Given the description of an element on the screen output the (x, y) to click on. 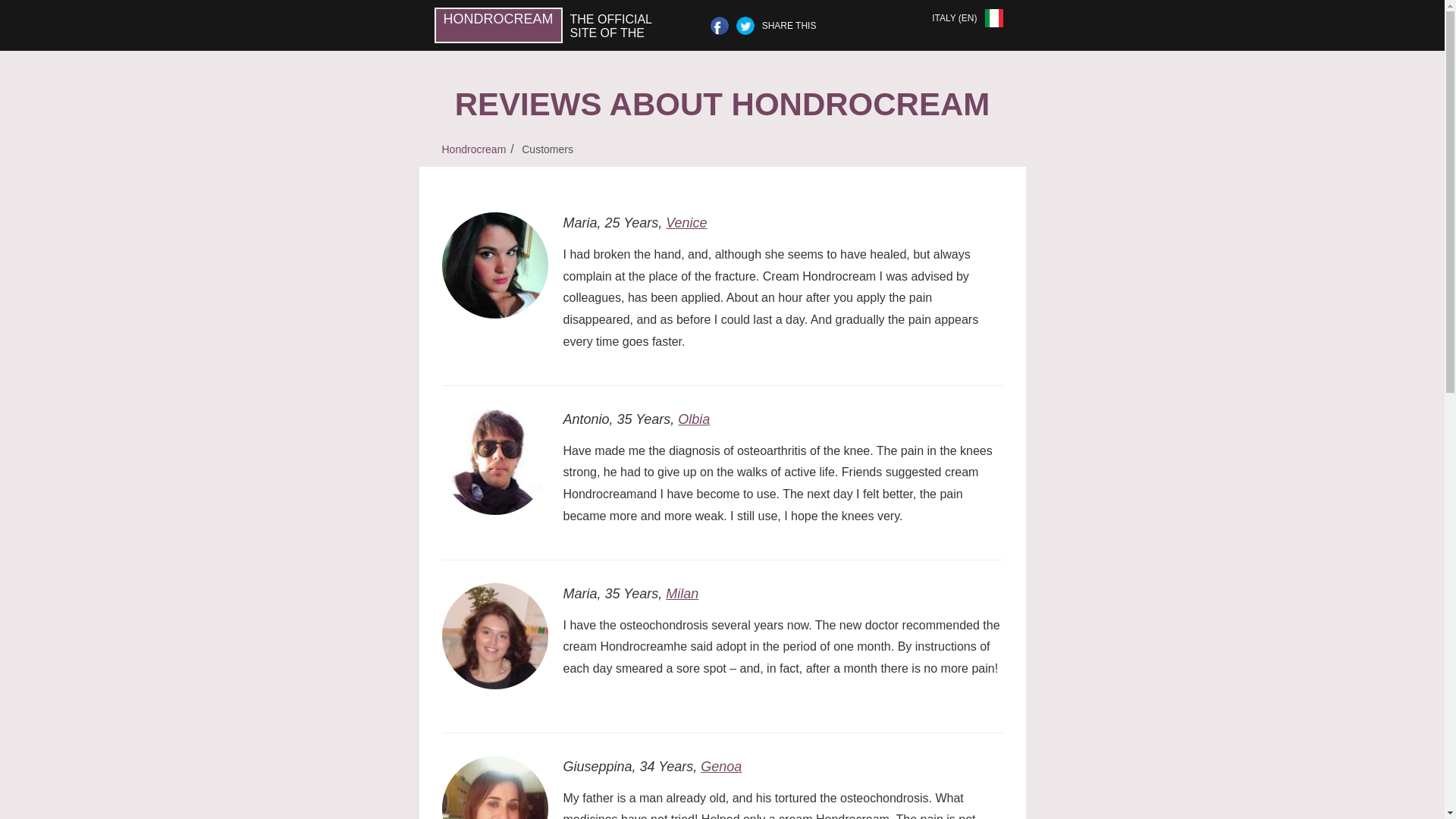
Olbia (694, 418)
Facebook (719, 25)
Venice (685, 222)
Hondrocream (473, 149)
Milan (681, 593)
Genoa (720, 766)
HONDROCREAM THE OFFICIAL SITE OF THE (560, 25)
Customers (547, 149)
Twitter (745, 25)
